Given the description of an element on the screen output the (x, y) to click on. 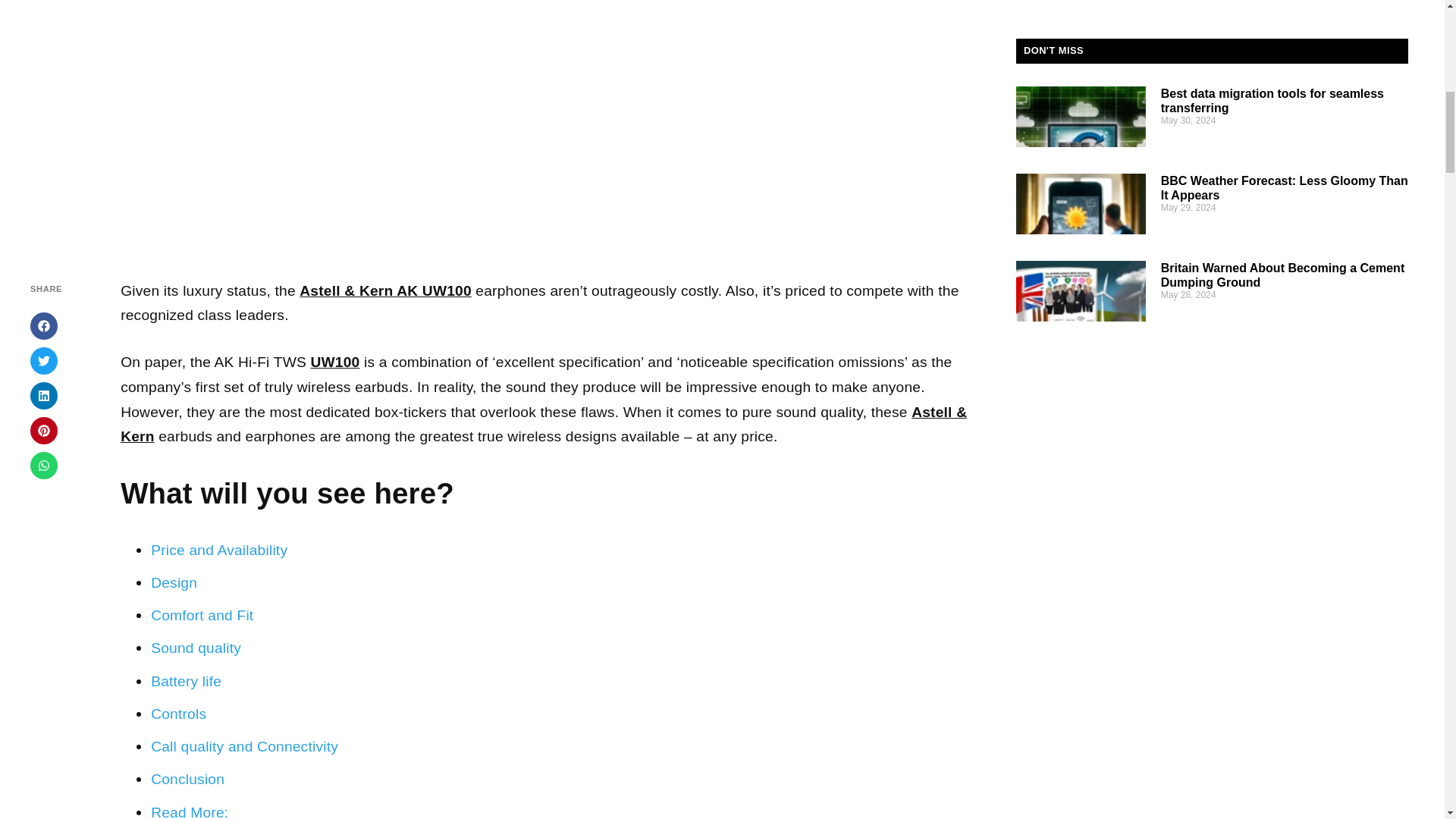
Battery life  (188, 681)
Sound quality  (197, 647)
Call quality and Connectivity  (246, 746)
Controls (178, 713)
Conclusion (187, 779)
Price and Availability (218, 549)
Design (173, 582)
Comfort and Fit (202, 615)
Read More: (189, 811)
